Given the description of an element on the screen output the (x, y) to click on. 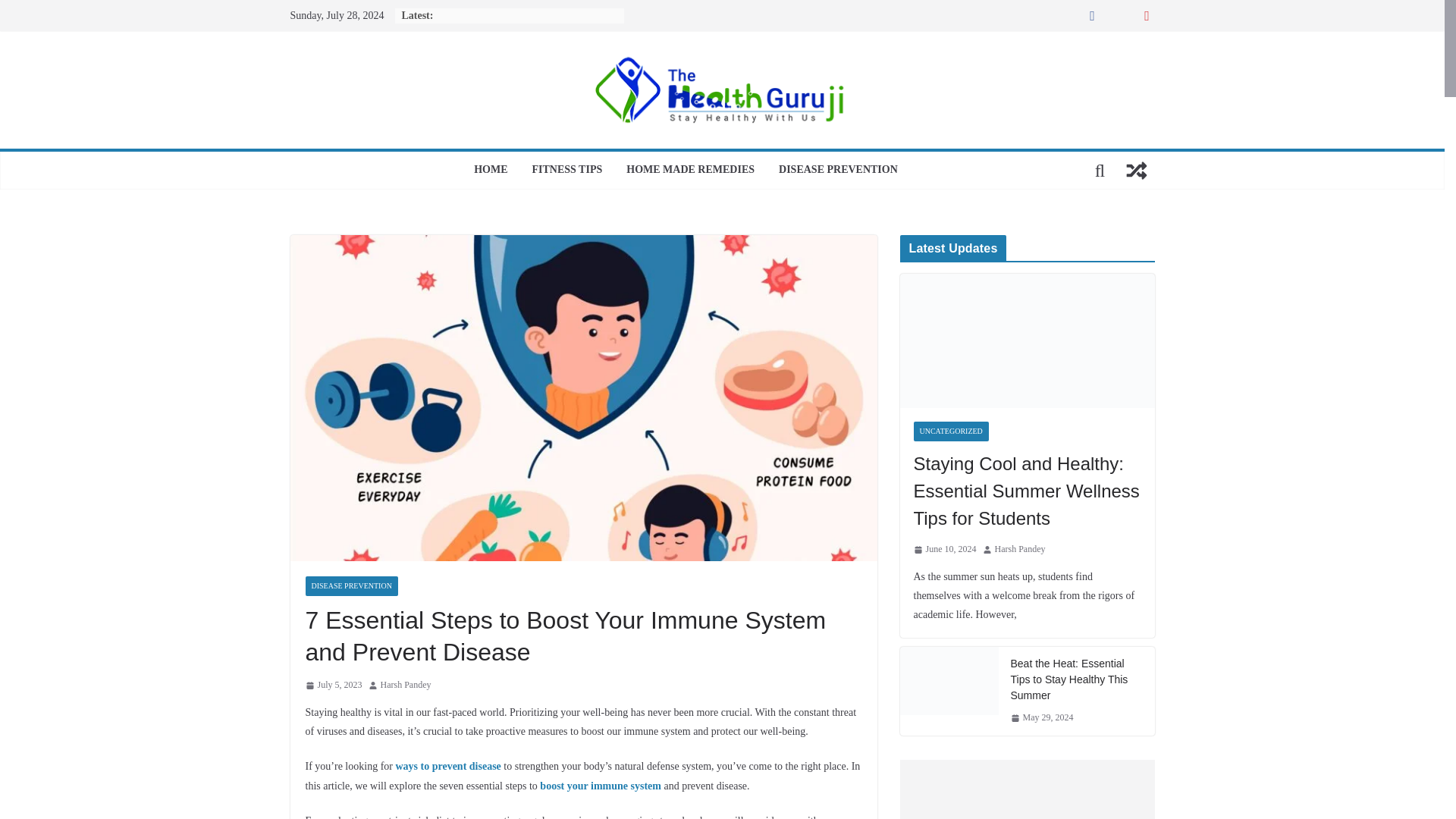
DISEASE PREVENTION (838, 169)
boost your immune system (600, 785)
HOME (490, 169)
12:57 pm (332, 685)
HOME MADE REMEDIES (690, 169)
FITNESS TIPS (567, 169)
Harsh Pandey (405, 685)
Harsh Pandey (405, 685)
View a random post (1136, 170)
ways to prevent disease (447, 766)
July 5, 2023 (332, 685)
DISEASE PREVENTION (350, 586)
